Given the description of an element on the screen output the (x, y) to click on. 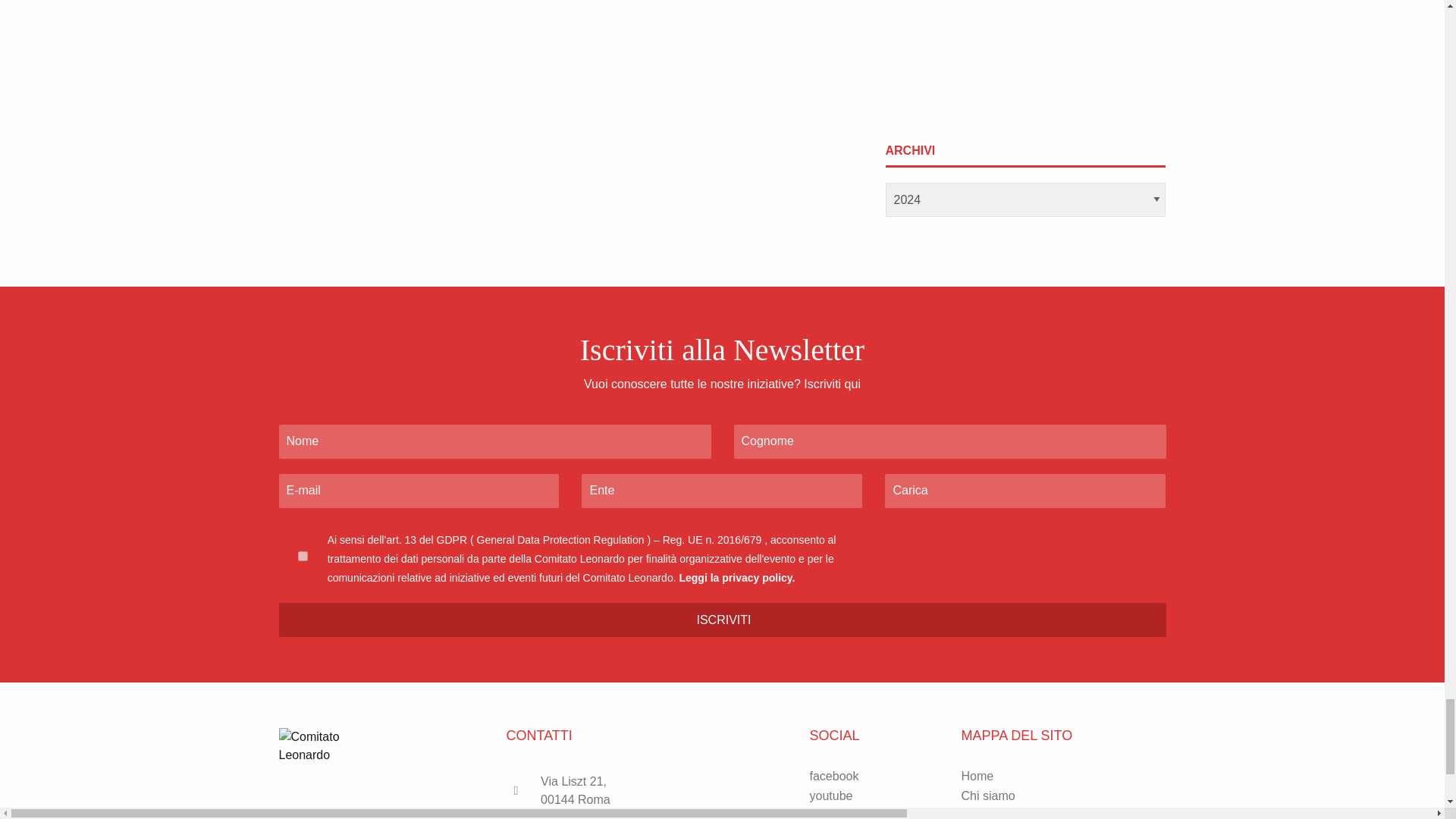
1 (302, 556)
Iscriviti (722, 619)
